Given the description of an element on the screen output the (x, y) to click on. 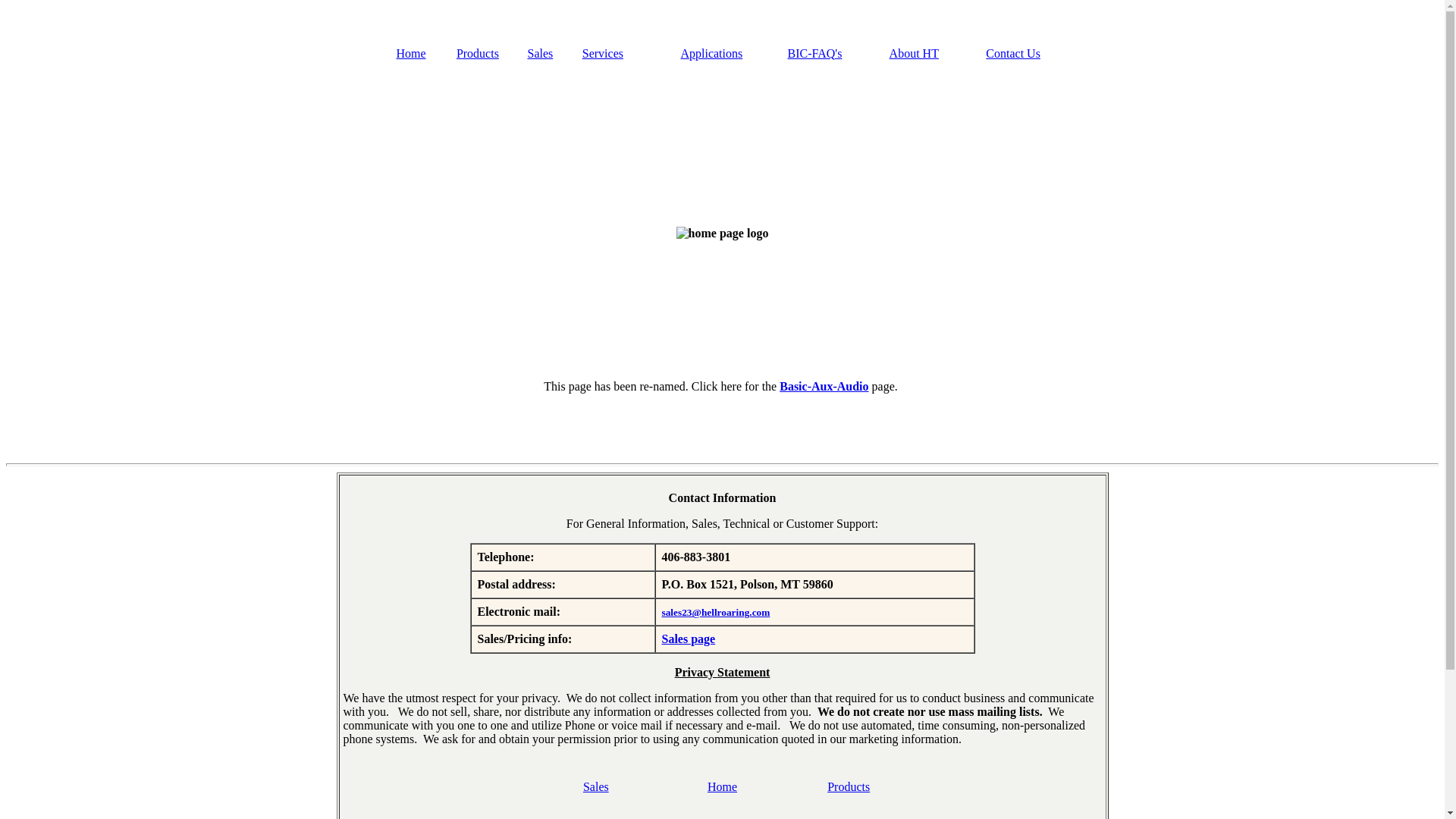
About HT (914, 52)
Products (478, 52)
Home (410, 52)
Contact Us (1013, 52)
BIC-FAQ's (815, 52)
Basic-Aux-Audio (822, 386)
Sales (595, 785)
Home (721, 785)
Services (602, 52)
Products (848, 785)
